Given the description of an element on the screen output the (x, y) to click on. 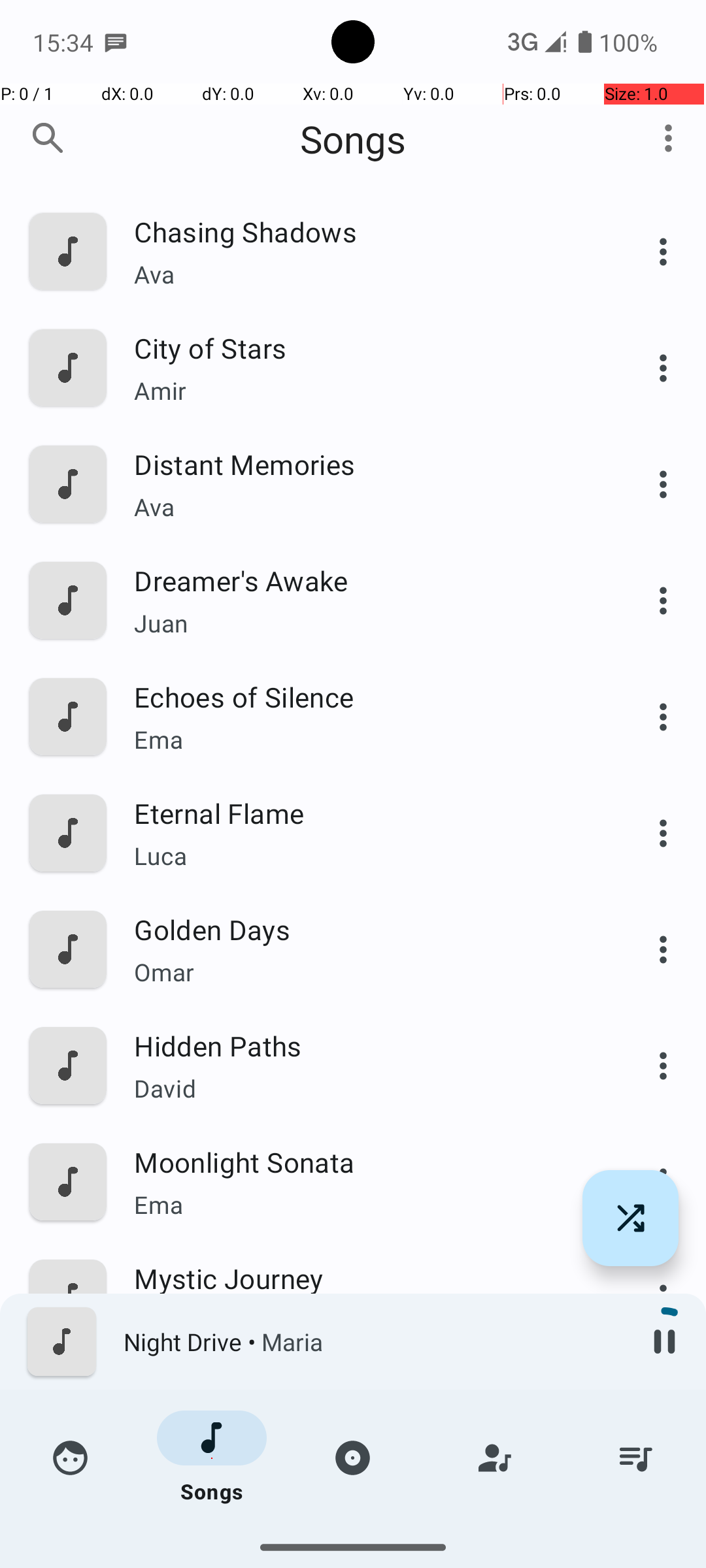
Night Drive • Maria Element type: android.widget.TextView (372, 1341)
Chasing Shadows Element type: android.widget.TextView (363, 231)
Ava Element type: android.widget.TextView (363, 273)
City of Stars Element type: android.widget.TextView (363, 347)
Amir Element type: android.widget.TextView (363, 390)
Distant Memories Element type: android.widget.TextView (363, 463)
Dreamer's Awake Element type: android.widget.TextView (363, 580)
Juan Element type: android.widget.TextView (363, 622)
Echoes of Silence Element type: android.widget.TextView (363, 696)
Ema Element type: android.widget.TextView (363, 738)
Eternal Flame Element type: android.widget.TextView (363, 812)
Luca Element type: android.widget.TextView (363, 855)
Golden Days Element type: android.widget.TextView (363, 928)
Omar Element type: android.widget.TextView (363, 971)
Hidden Paths Element type: android.widget.TextView (363, 1045)
David Element type: android.widget.TextView (363, 1087)
Moonlight Sonata Element type: android.widget.TextView (363, 1161)
Mystic Journey Element type: android.widget.TextView (363, 1277)
Night Drive Element type: android.widget.TextView (363, 1394)
Maria Element type: android.widget.TextView (363, 1436)
Return to Paradise Element type: android.widget.TextView (363, 1510)
Matteo Element type: android.widget.TextView (363, 1538)
